Given the description of an element on the screen output the (x, y) to click on. 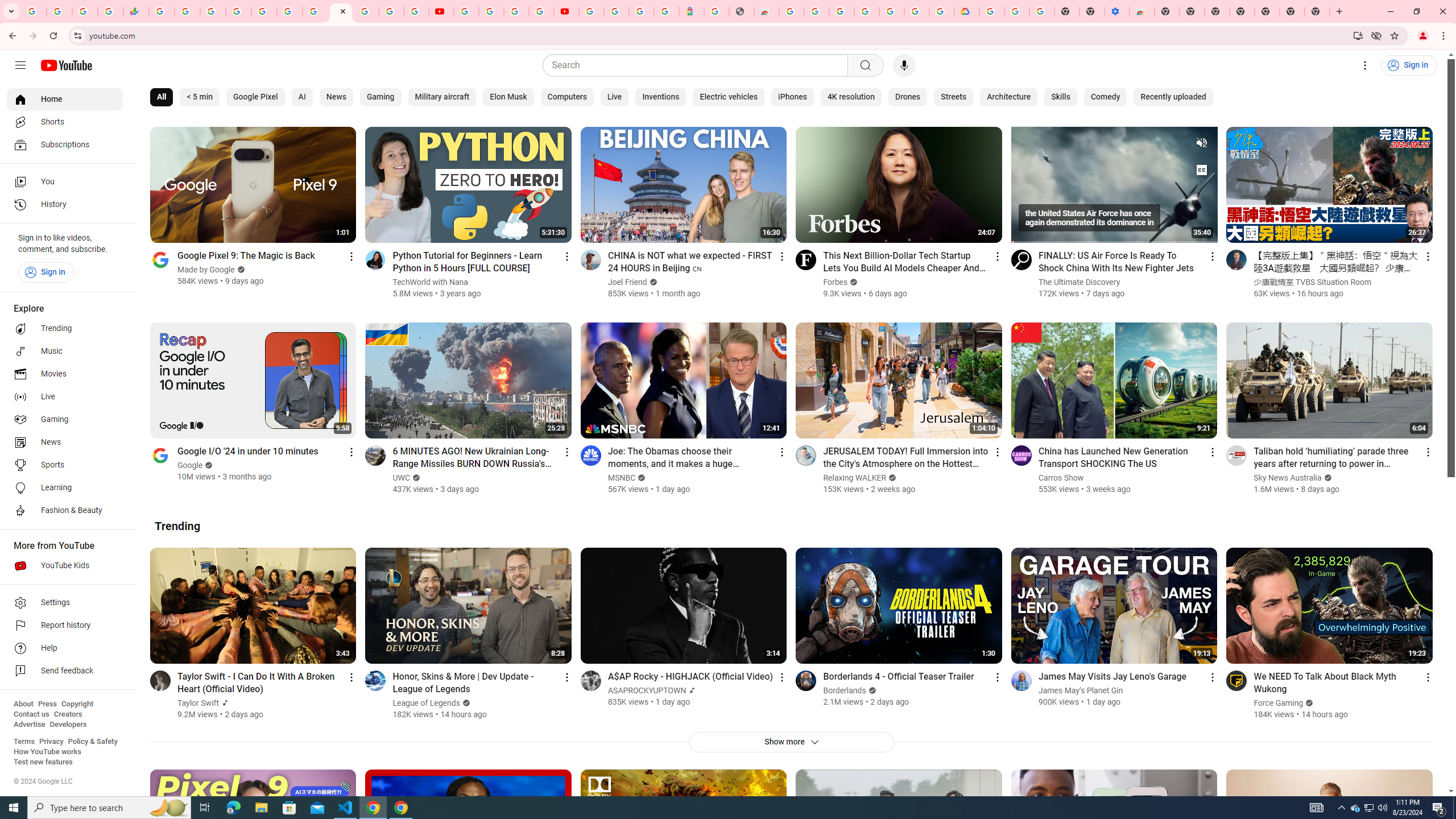
League of Legends (427, 702)
Taylor Swift (198, 702)
MSNBC (621, 477)
Gaming (64, 419)
Live (613, 97)
Send feedback (64, 671)
Drones (907, 97)
